Given the description of an element on the screen output the (x, y) to click on. 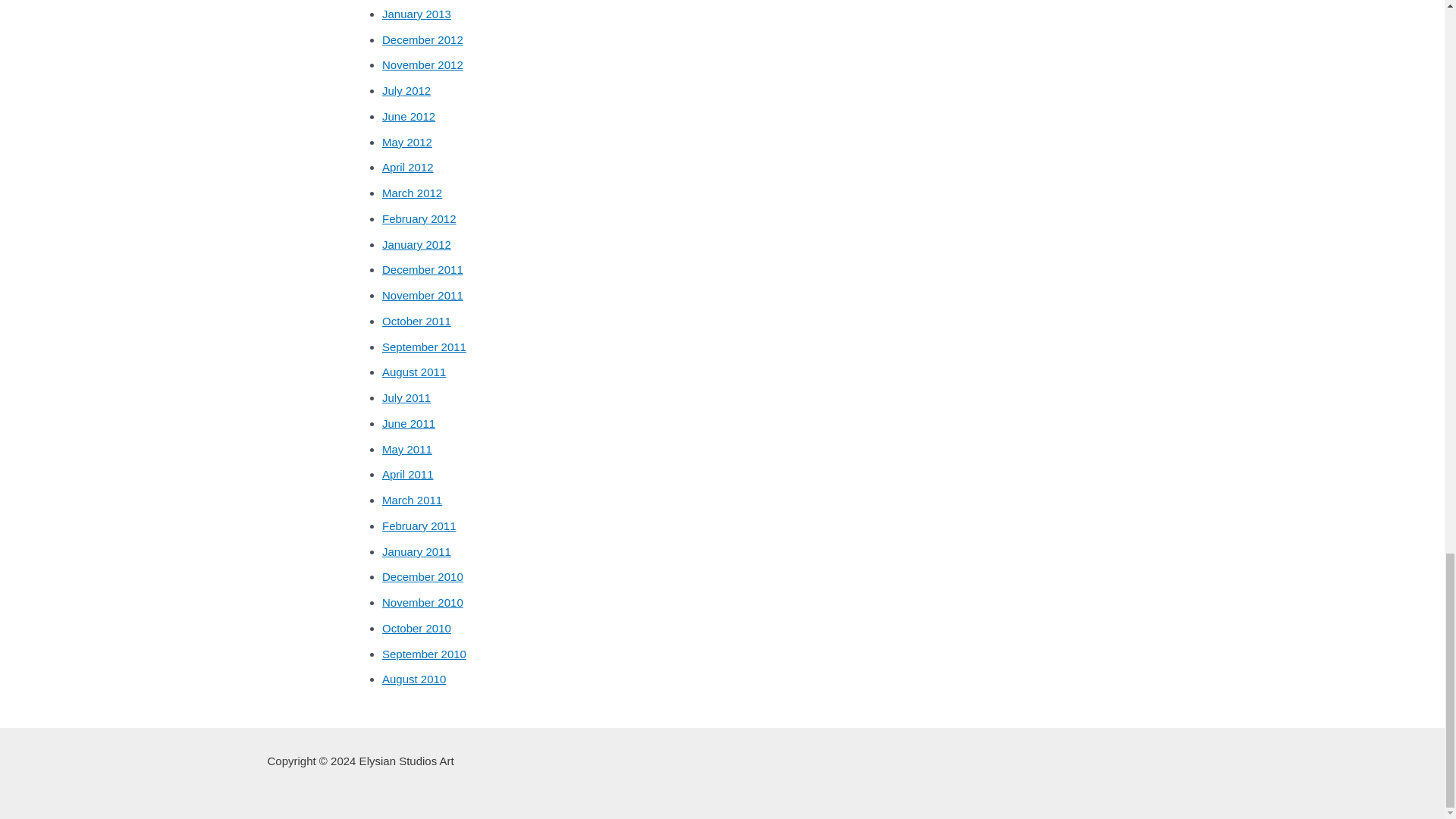
December 2011 (422, 269)
January 2013 (416, 13)
January 2012 (416, 244)
February 2012 (419, 218)
July 2012 (405, 90)
September 2011 (423, 346)
April 2012 (407, 166)
November 2012 (422, 64)
March 2012 (411, 192)
May 2012 (406, 141)
